Given the description of an element on the screen output the (x, y) to click on. 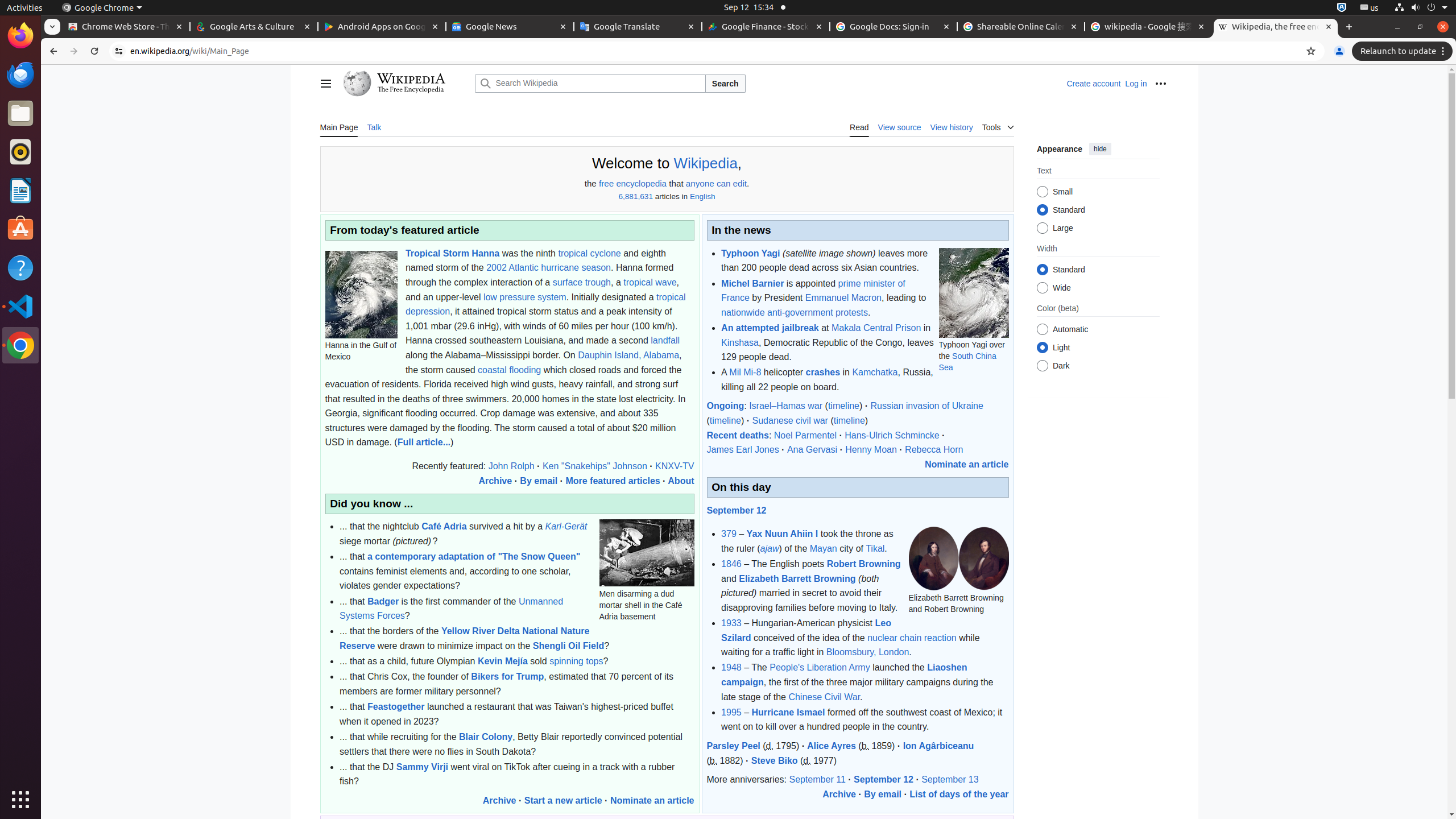
Kevin Mejía Element type: link (502, 661)
Main menu Element type: push-button (325, 83)
Ana Gervasi Element type: link (811, 449)
1948 Element type: link (731, 667)
Visual Studio Code Element type: push-button (20, 306)
